Given the description of an element on the screen output the (x, y) to click on. 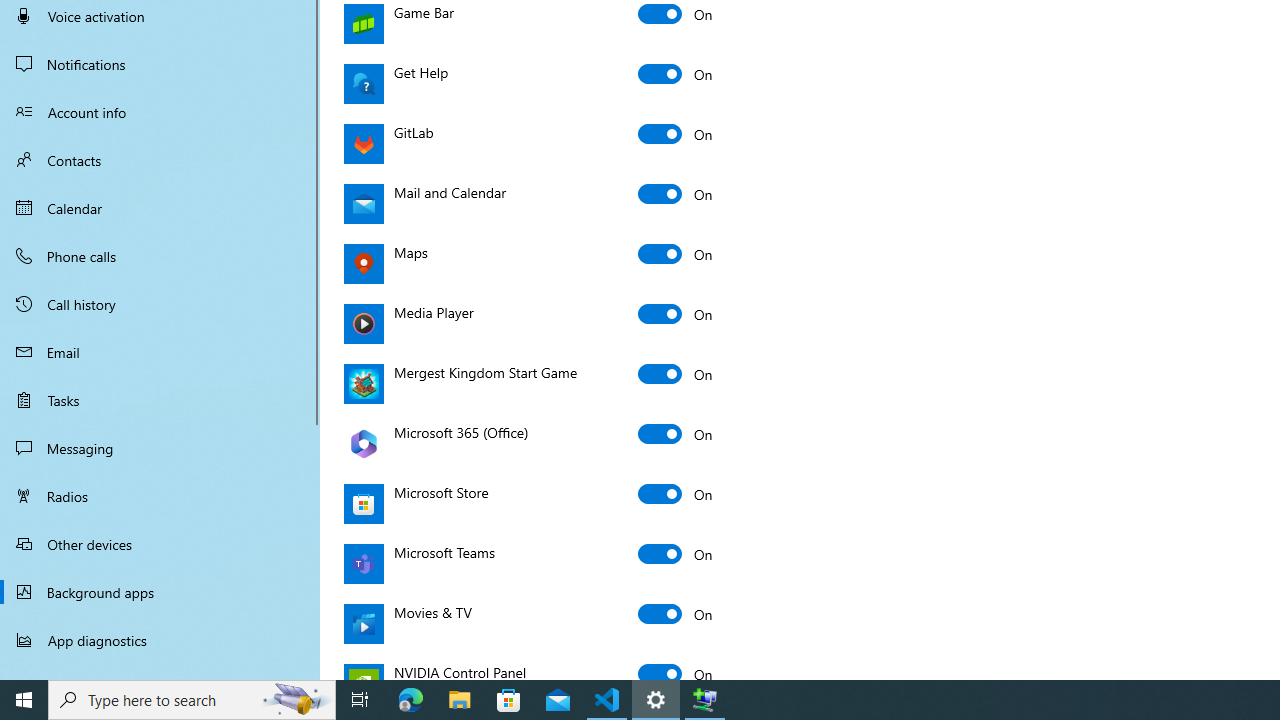
Mergest Kingdom Start Game (675, 373)
Start (24, 699)
Task View (359, 699)
Messaging (160, 448)
Account info (160, 111)
Microsoft Edge (411, 699)
NVIDIA Control Panel (675, 668)
Phone calls (160, 255)
Background apps (160, 592)
Microsoft Teams (675, 553)
Email (160, 351)
Other devices (160, 543)
File Explorer (460, 699)
GitLab (675, 133)
Maps (675, 254)
